Given the description of an element on the screen output the (x, y) to click on. 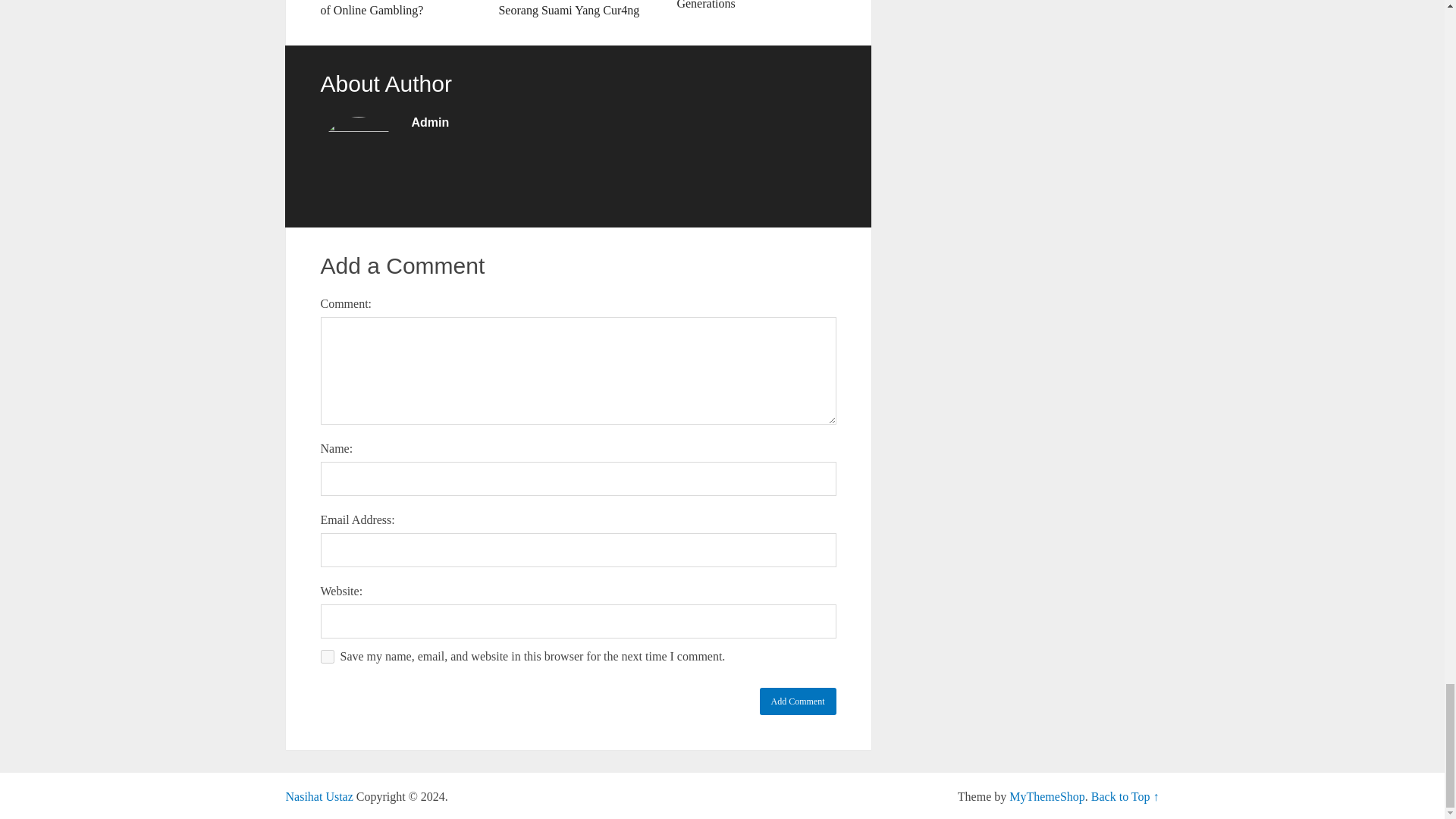
My WordPress Blog (318, 795)
Crypto Loko Casino: The Future of Online Gambling? (399, 9)
Pesanan Dari Ustaz Kepada Seorang Suami Yang Cur4ng (577, 9)
Add Comment (797, 700)
yes (326, 656)
Add Comment (797, 700)
Pesanan Dari Ustaz Kepada Seorang Suami Yang Cur4ng (577, 9)
Crypto Loko Casino: The Future of Online Gambling? (399, 9)
